Given the description of an element on the screen output the (x, y) to click on. 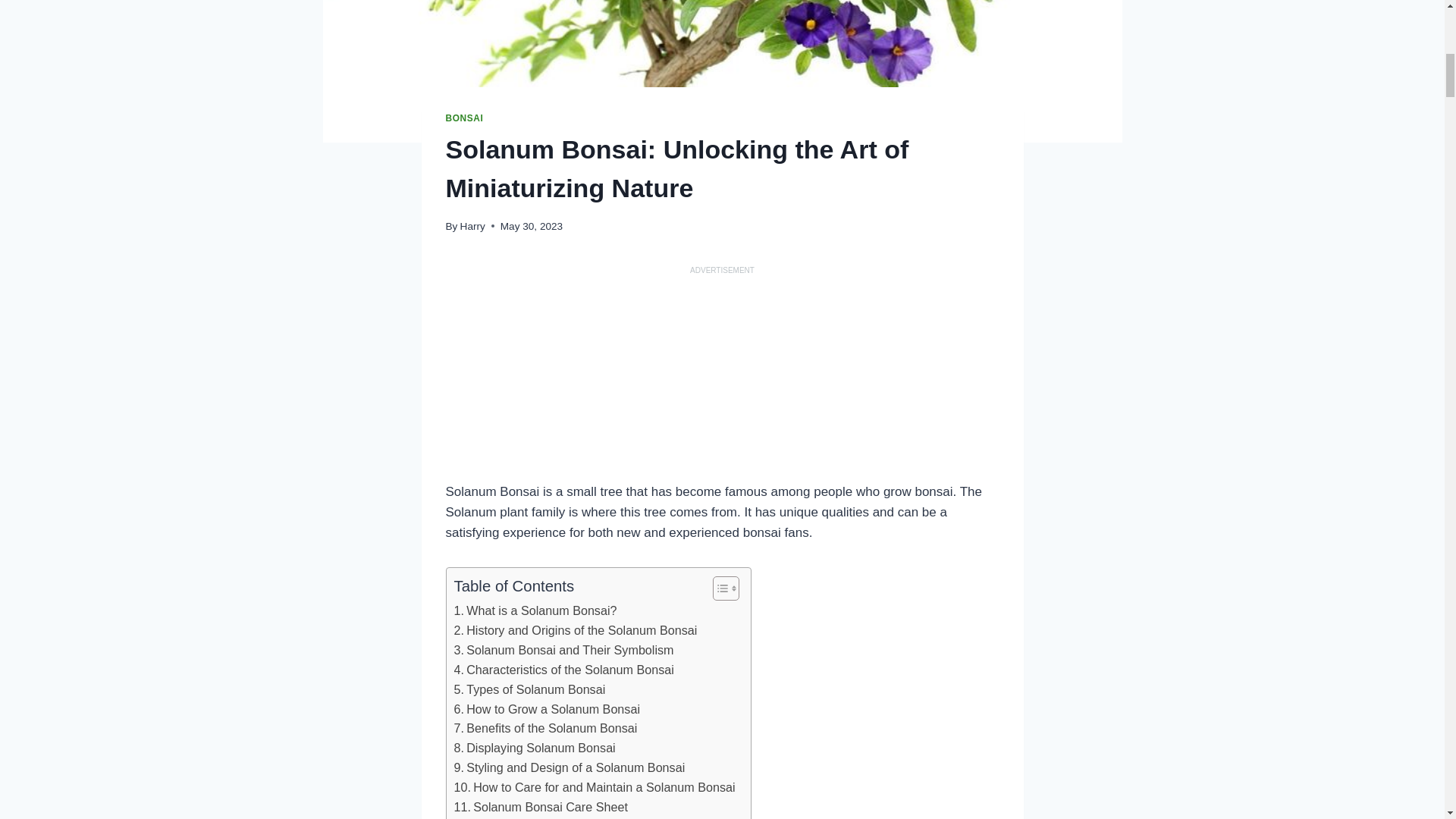
Benefits of the Solanum Bonsai (544, 728)
History and Origins of the Solanum Bonsai (574, 630)
Characteristics of the Solanum Bonsai (562, 670)
Benefits of the Solanum Bonsai (544, 728)
BONSAI (464, 118)
Conclusion (493, 818)
Solanum Bonsai Care Sheet (539, 807)
Styling and Design of a Solanum Bonsai (568, 768)
Characteristics of the Solanum Bonsai (562, 670)
What is a Solanum Bonsai? (533, 610)
History and Origins of the Solanum Bonsai (574, 630)
Harry (472, 225)
What is a Solanum Bonsai? (533, 610)
How to Care for and Maintain a Solanum Bonsai (593, 787)
Displaying Solanum Bonsai (533, 748)
